Given the description of an element on the screen output the (x, y) to click on. 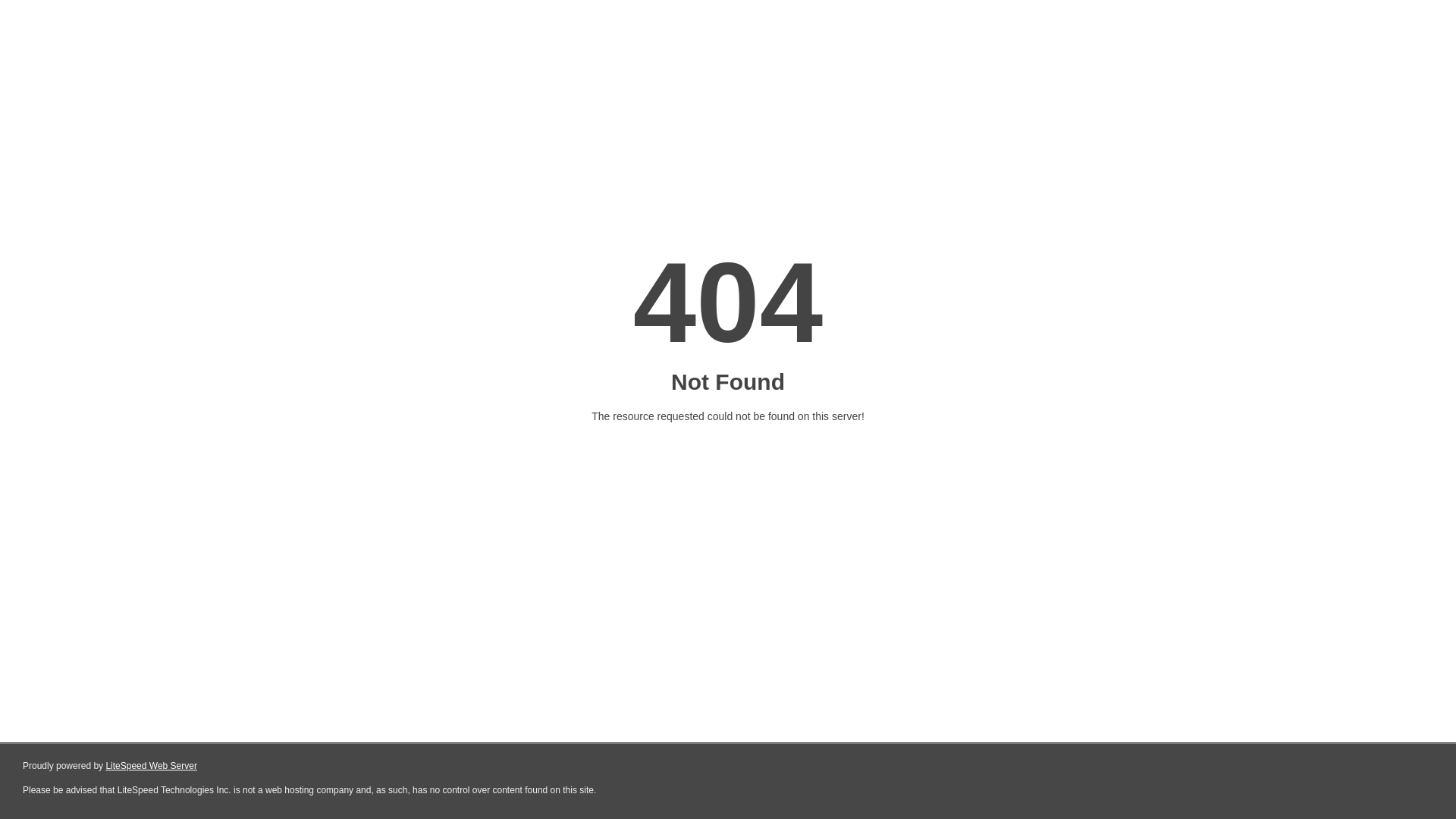
LiteSpeed Web Server Element type: text (151, 765)
